Given the description of an element on the screen output the (x, y) to click on. 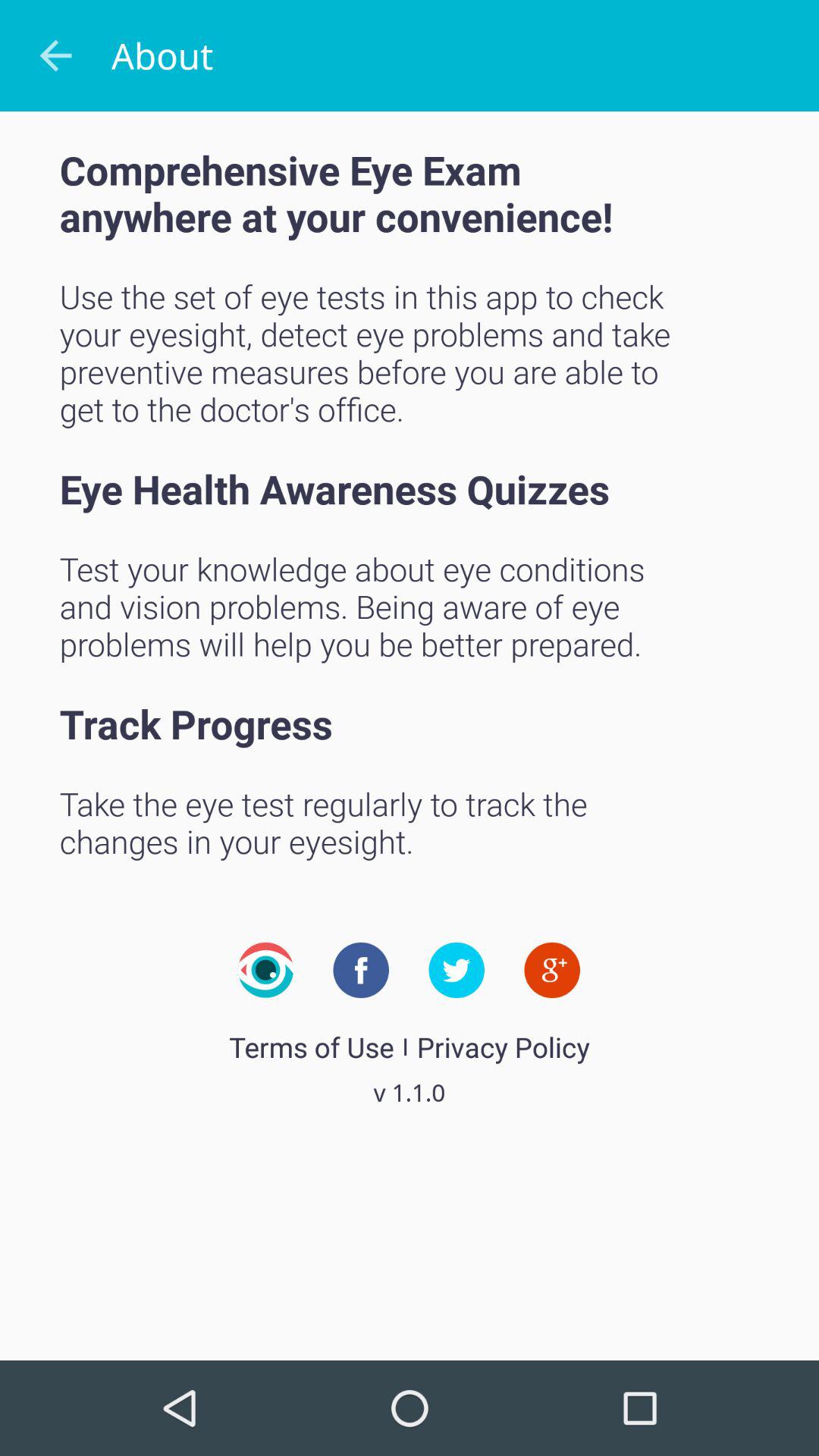
launch item below the take the eye icon (265, 970)
